Given the description of an element on the screen output the (x, y) to click on. 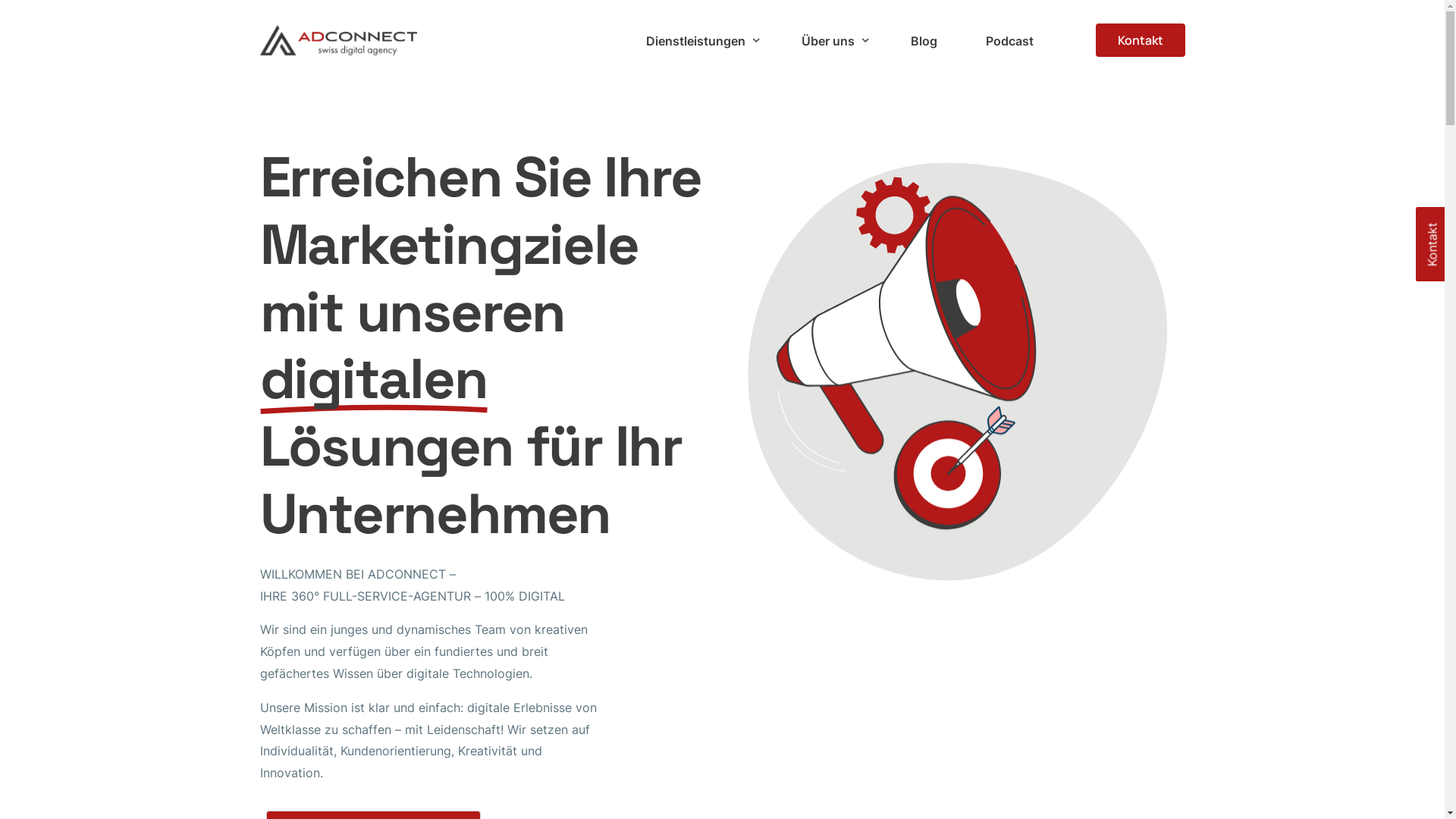
Dienstleistungen Element type: text (699, 40)
Podcast Element type: text (1009, 40)
Blog Element type: text (923, 40)
Kontakt Element type: text (1140, 39)
